Given the description of an element on the screen output the (x, y) to click on. 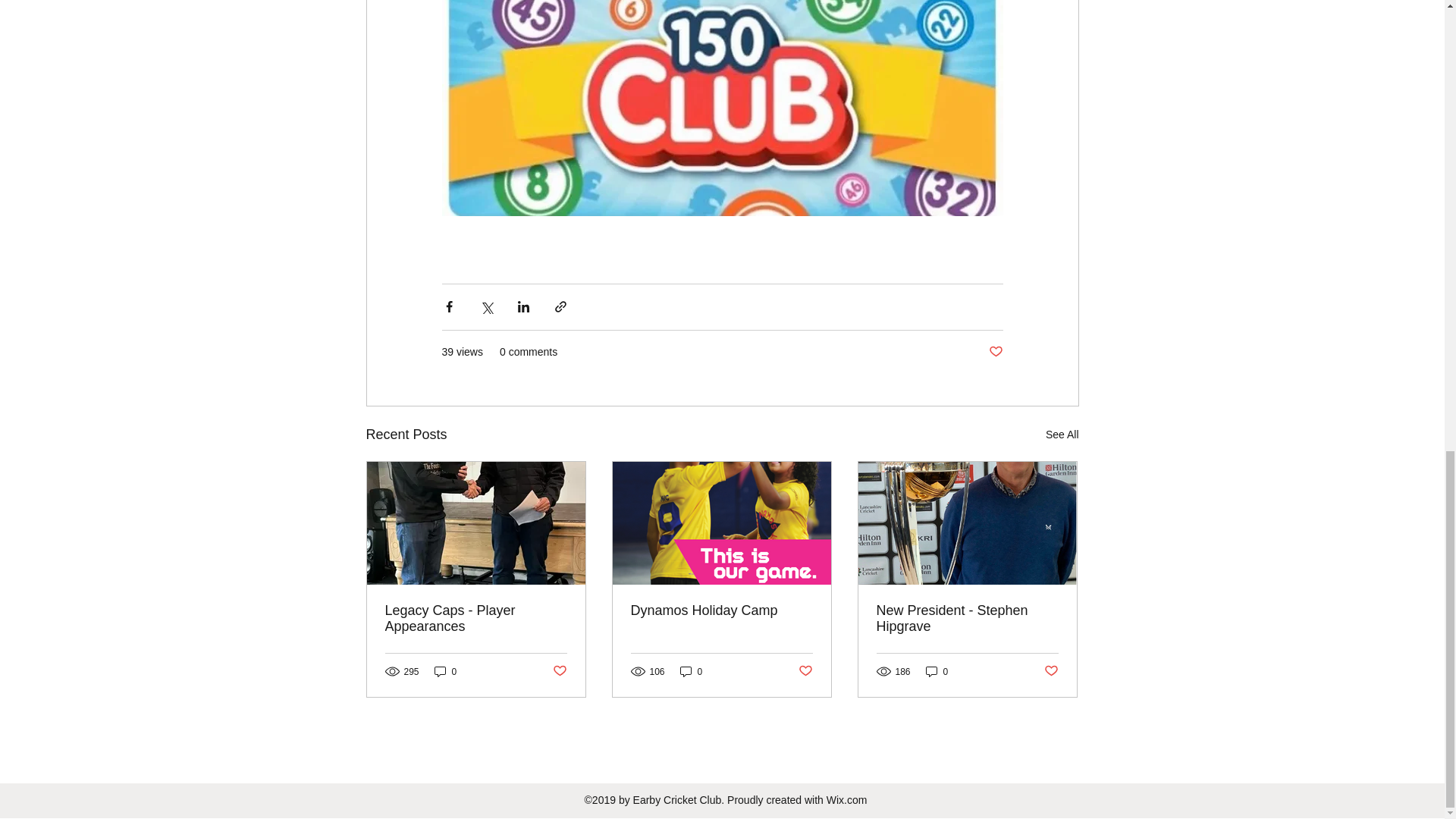
Post not marked as liked (995, 351)
